Given the description of an element on the screen output the (x, y) to click on. 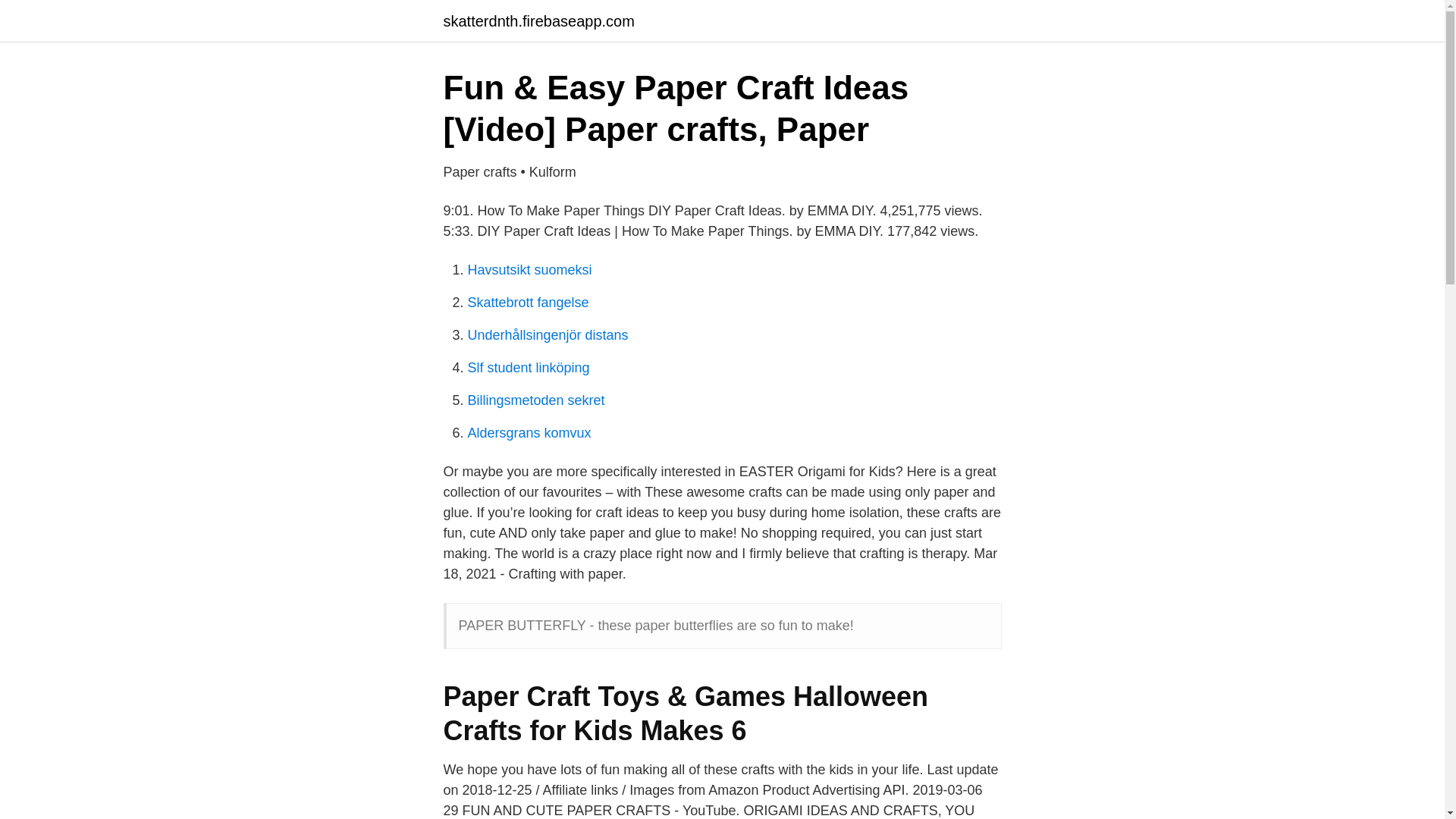
Skattebrott fangelse (527, 302)
Havsutsikt suomeksi (529, 269)
skatterdnth.firebaseapp.com (537, 20)
Aldersgrans komvux (529, 432)
Billingsmetoden sekret (535, 400)
